Given the description of an element on the screen output the (x, y) to click on. 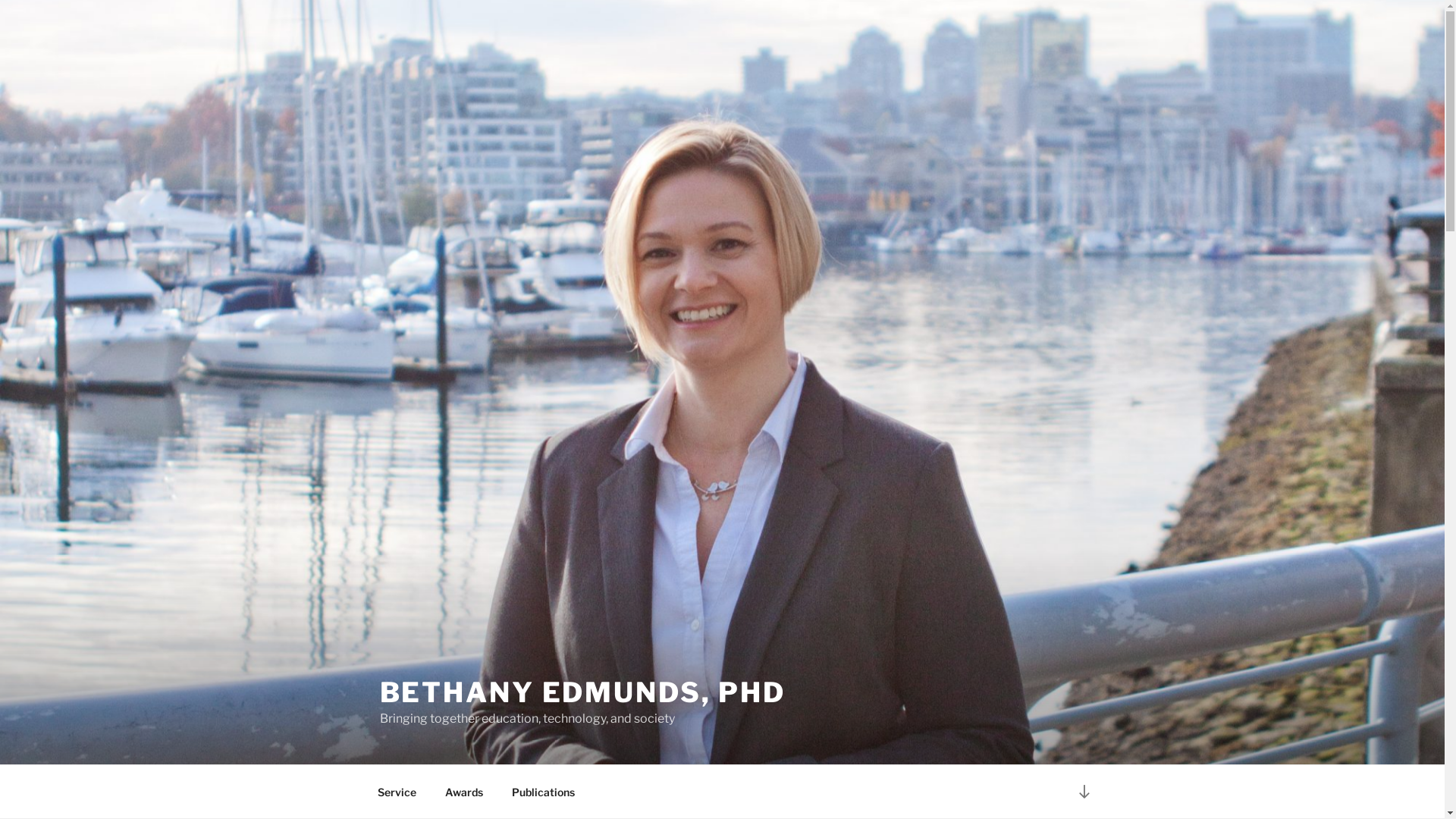
Awards Element type: text (464, 791)
BETHANY EDMUNDS, PHD Element type: text (582, 692)
Service Element type: text (396, 791)
Publications Element type: text (543, 791)
Scroll down to content Element type: text (1083, 790)
